Given the description of an element on the screen output the (x, y) to click on. 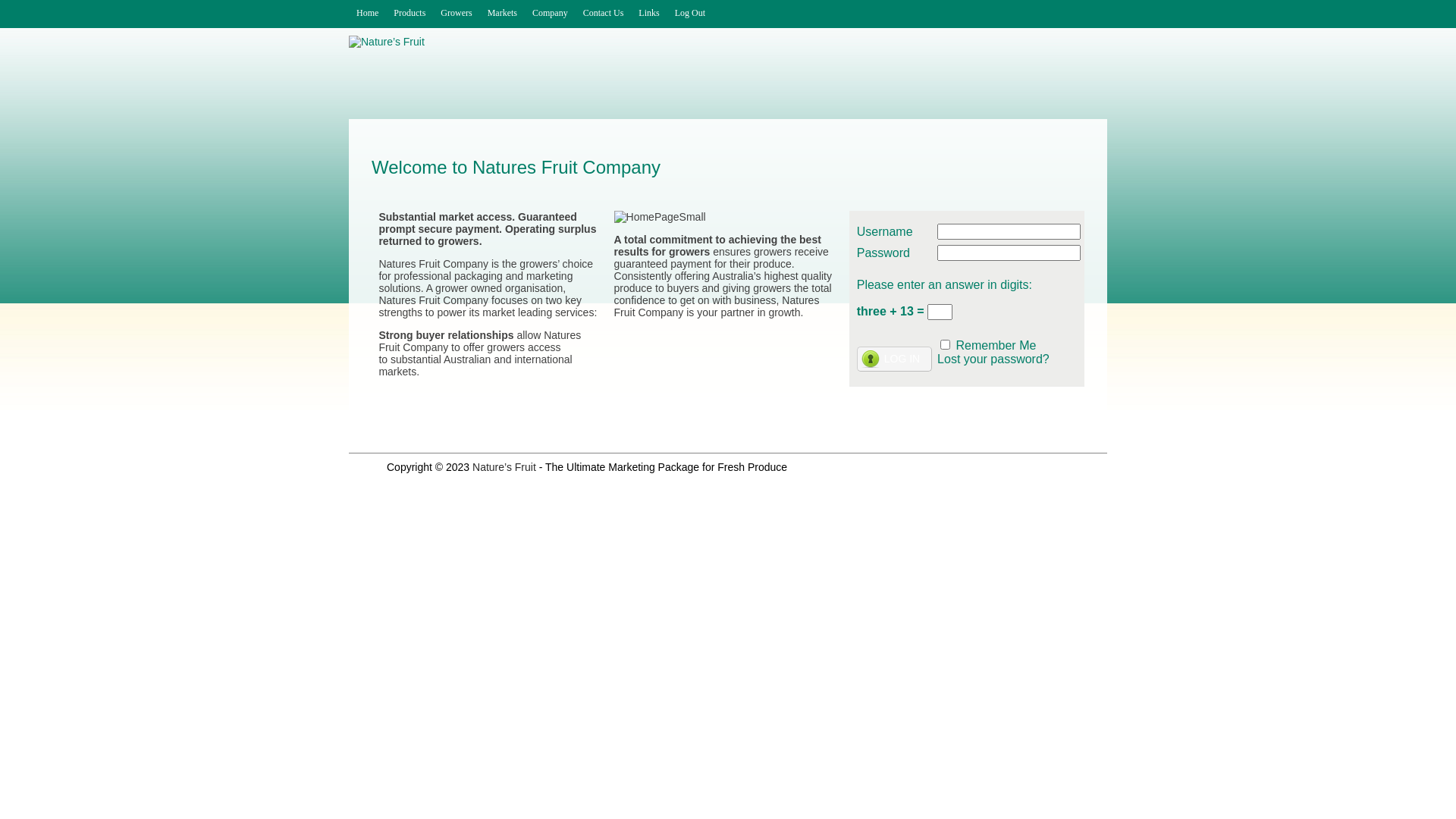
Products Element type: text (409, 13)
Company Element type: text (549, 13)
Growers Element type: text (456, 13)
Log In Element type: text (893, 358)
Links Element type: text (648, 13)
Log Out Element type: text (689, 13)
Markets Element type: text (502, 13)
Contact Us Element type: text (603, 13)
Lost your password? Element type: text (993, 358)
Home Element type: text (366, 13)
